Given the description of an element on the screen output the (x, y) to click on. 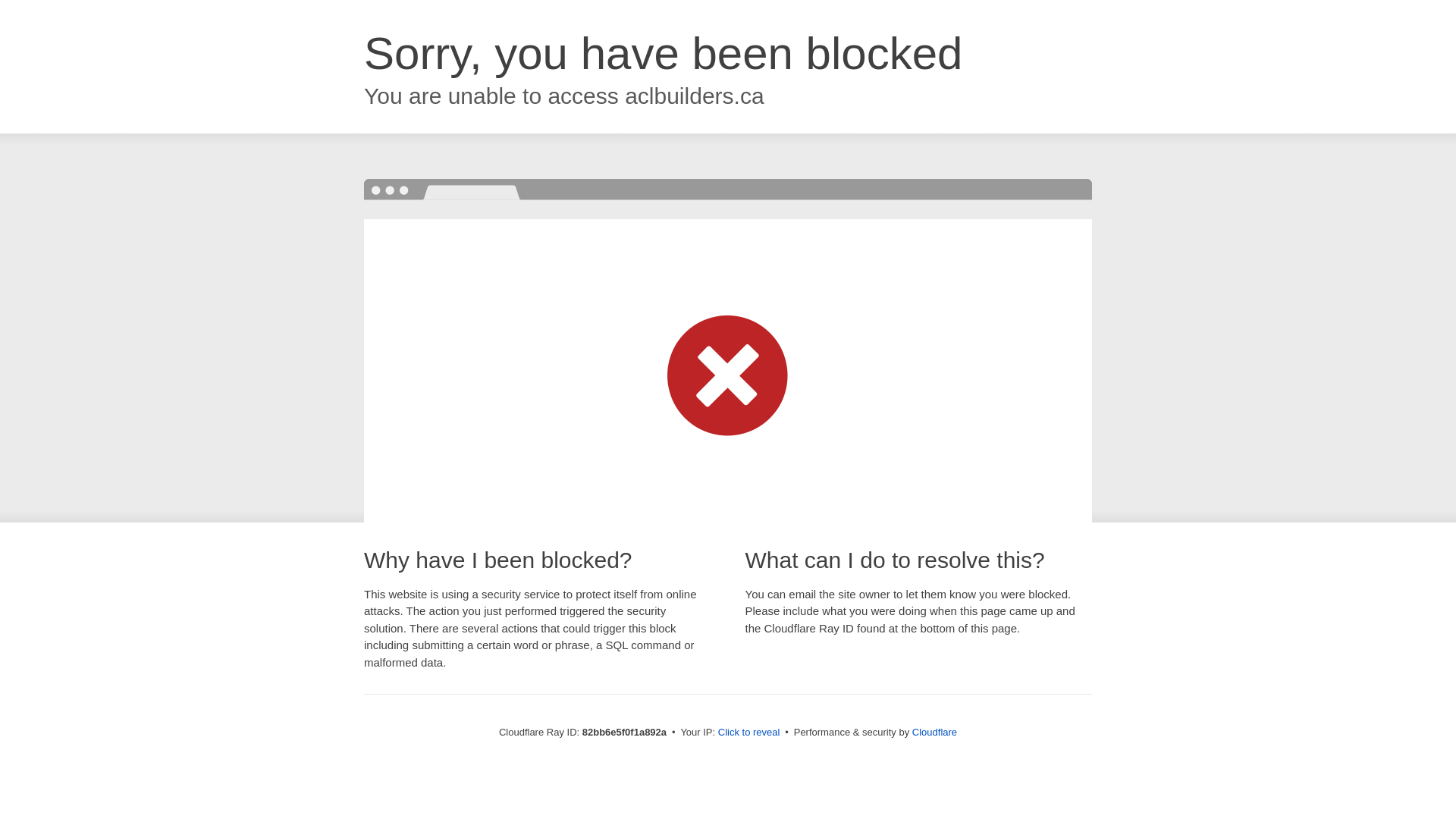
Click to reveal Element type: text (749, 732)
Cloudflare Element type: text (934, 731)
